Given the description of an element on the screen output the (x, y) to click on. 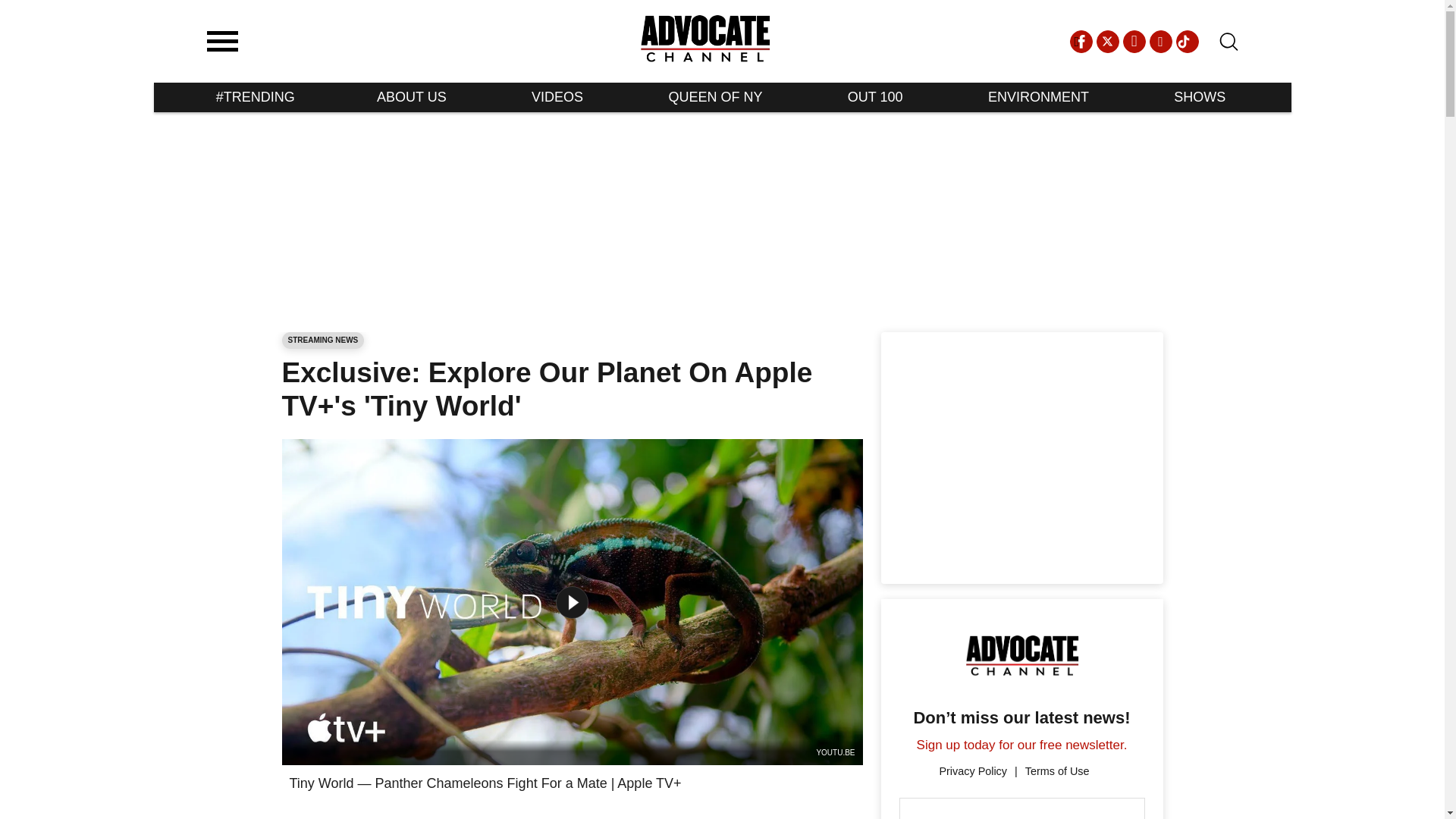
VIDEOS (557, 96)
ENVIRONMENT (1038, 96)
QUEEN OF NY (715, 96)
OUT 100 (874, 96)
SHOWS (1199, 96)
ABOUT US (411, 96)
To the homepage (705, 41)
